Given the description of an element on the screen output the (x, y) to click on. 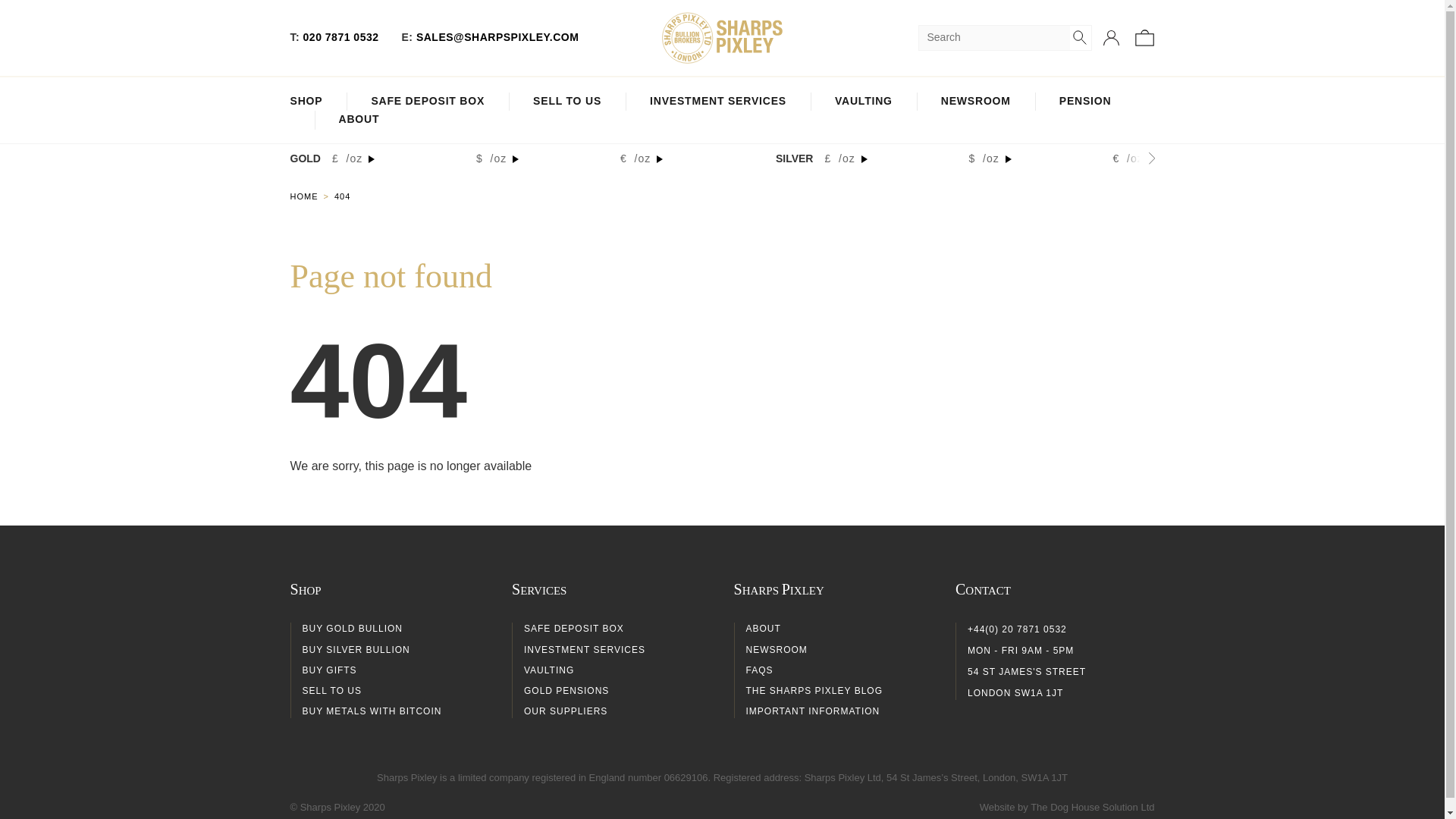
Pension (1085, 101)
Sell to us (566, 101)
020 7871 0532 (340, 37)
Newsroom (975, 101)
Vaulting (863, 101)
Investment Services (717, 101)
About (357, 119)
Buy gold online (311, 195)
Safe Deposit Boxes in London (427, 101)
SHOP (305, 101)
